Given the description of an element on the screen output the (x, y) to click on. 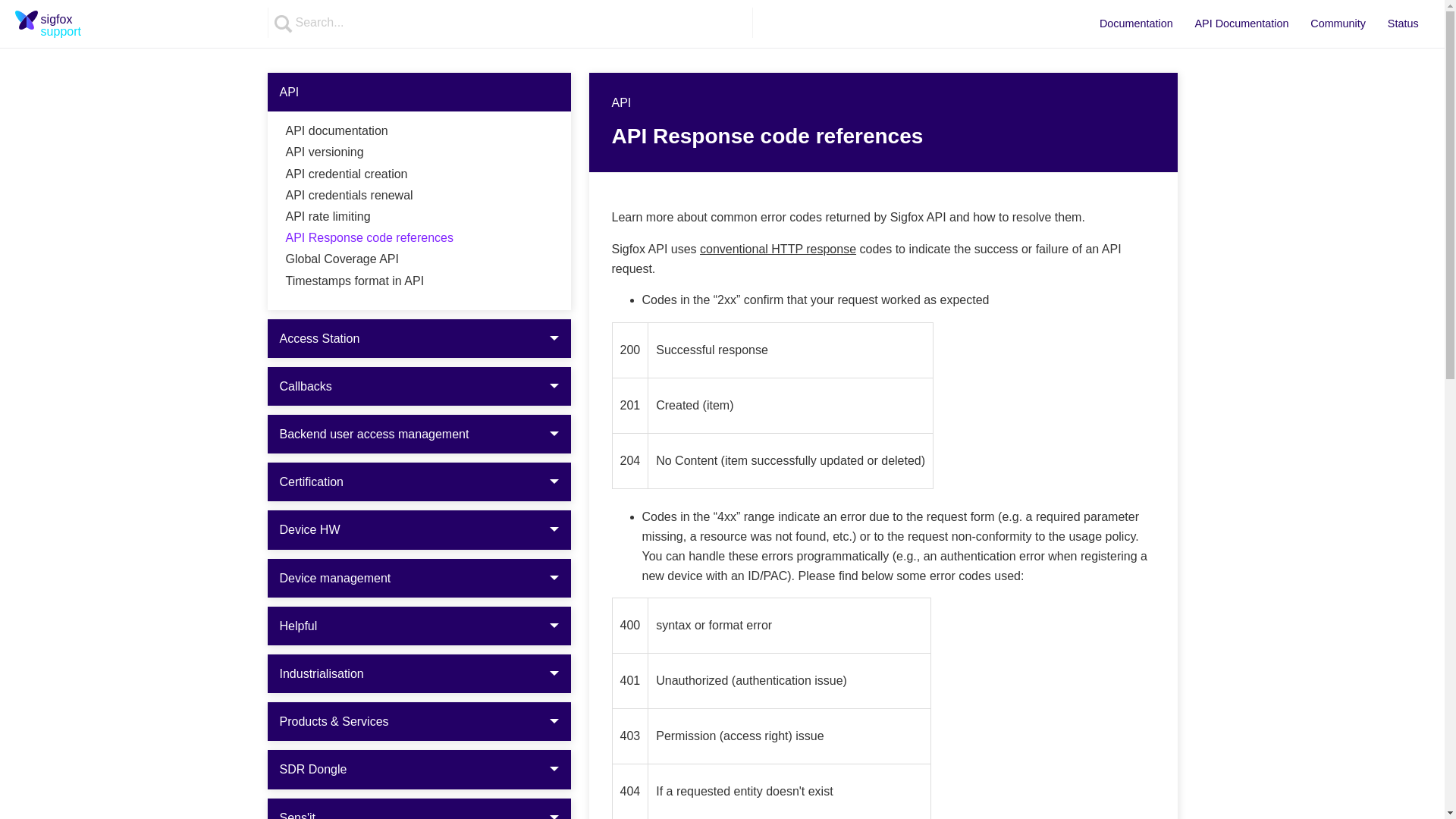
API Response code references (62, 24)
Documentation (418, 237)
API Documentation (1136, 24)
API rate limiting (1240, 24)
API versioning (418, 216)
Global Coverage API (418, 151)
Community (418, 259)
API documentation (1337, 24)
API credential creation (418, 130)
Timestamps format in API (418, 174)
API credentials renewal (418, 280)
